Given the description of an element on the screen output the (x, y) to click on. 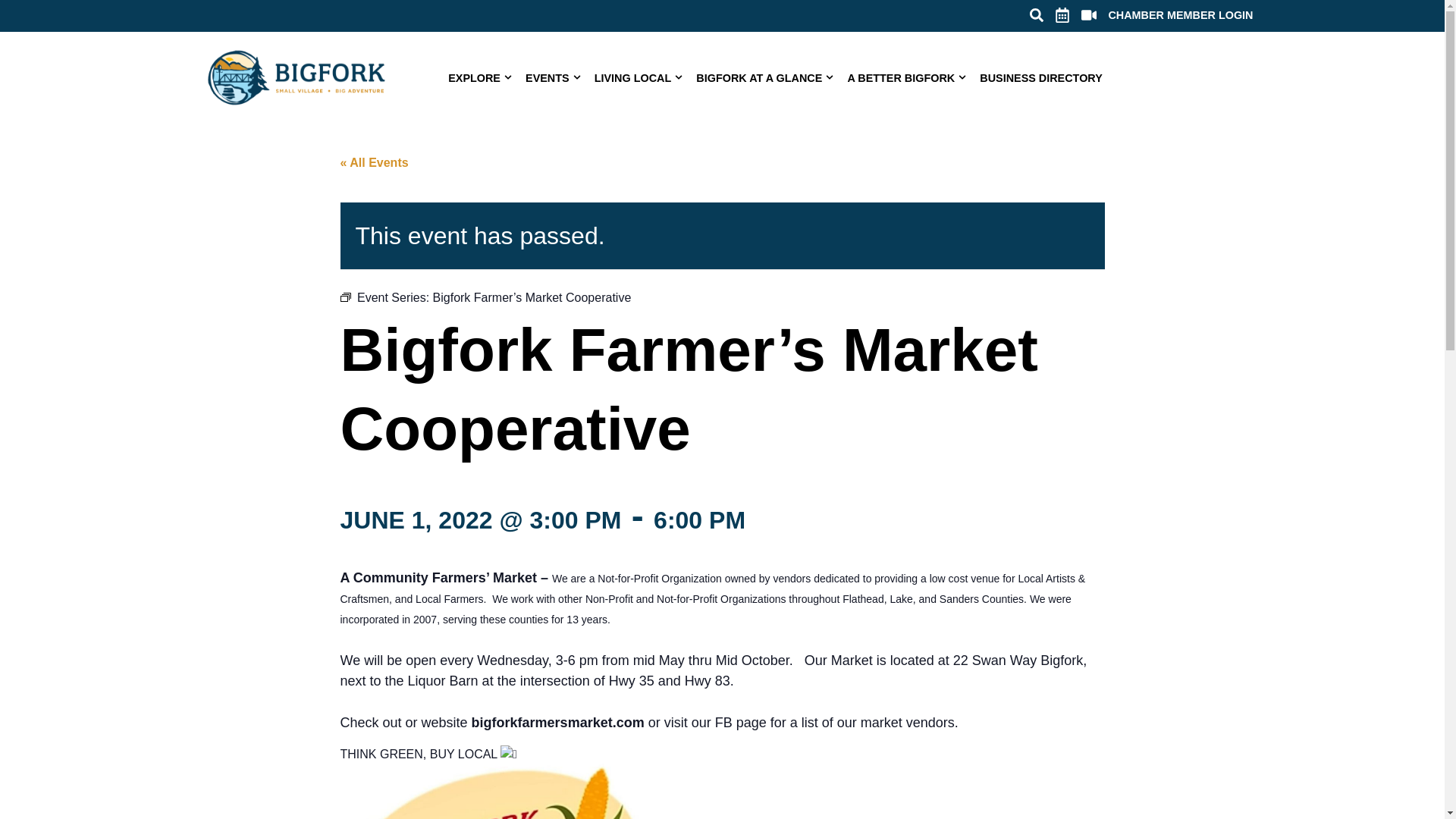
EXPLORE (480, 77)
Event Series: (344, 297)
EVENTS (552, 77)
CHAMBER MEMBER LOGIN (1180, 15)
Event Series (344, 297)
